Given the description of an element on the screen output the (x, y) to click on. 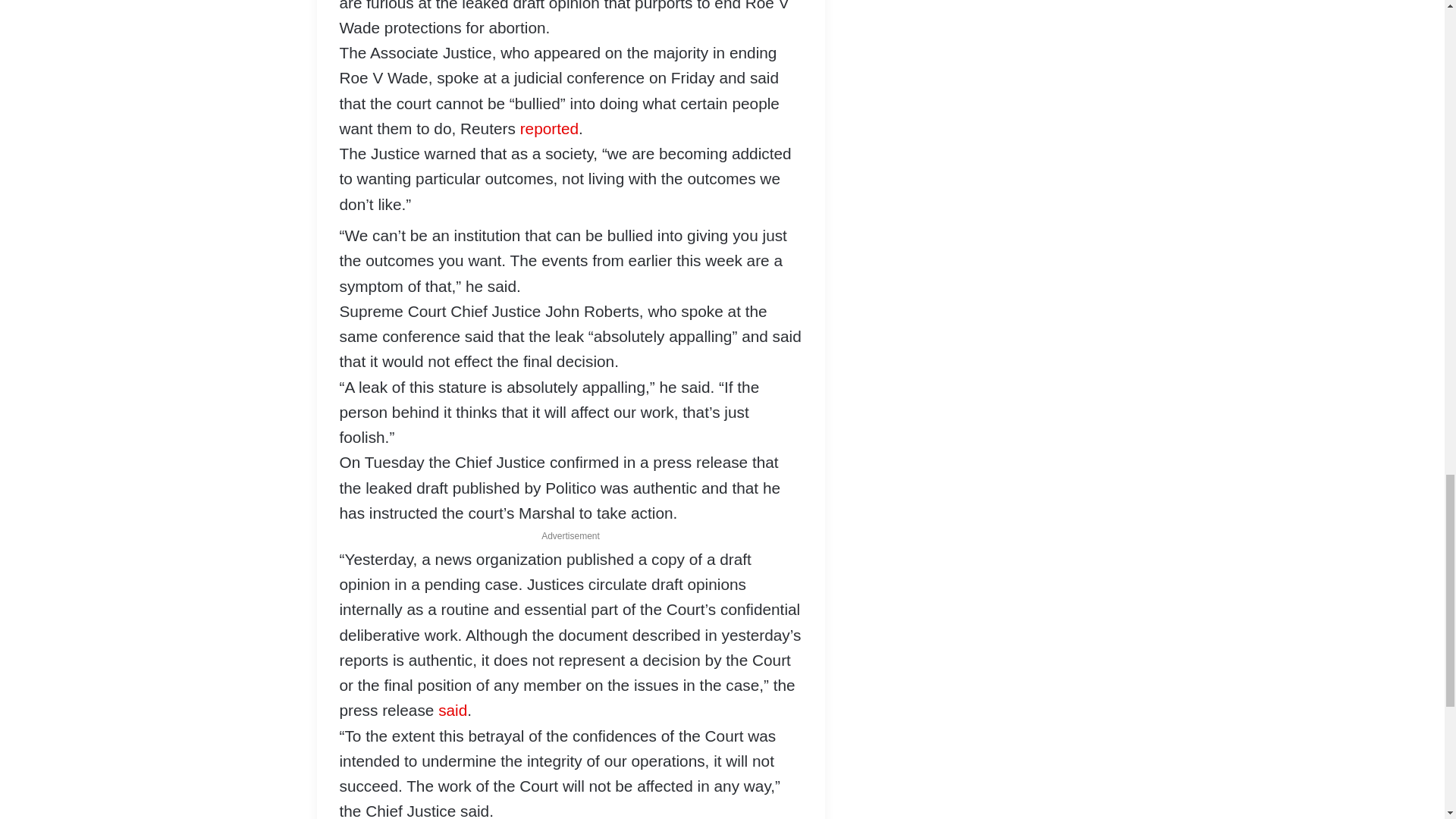
reported (548, 128)
said (452, 710)
